Given the description of an element on the screen output the (x, y) to click on. 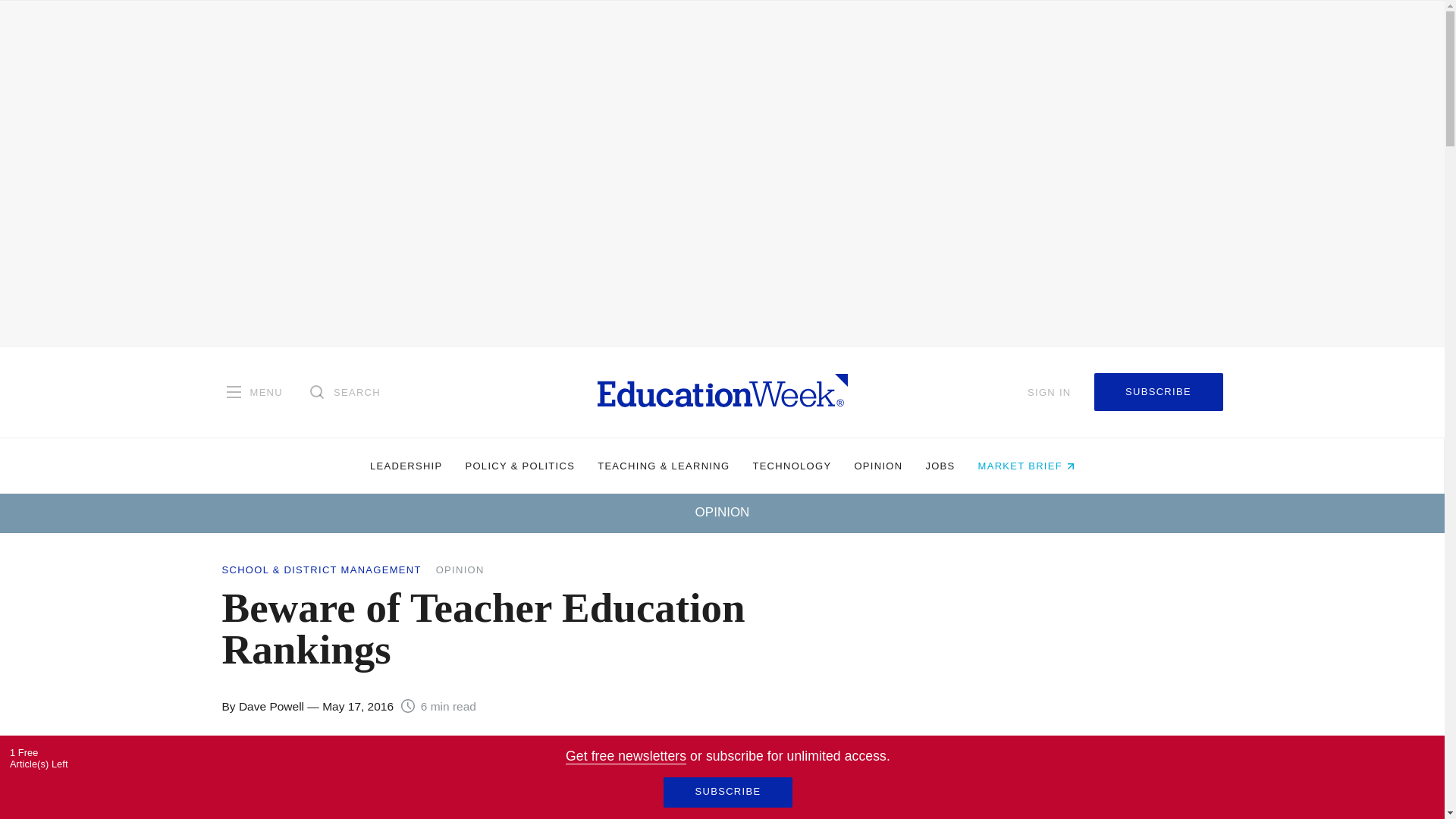
Homepage (721, 391)
